Given the description of an element on the screen output the (x, y) to click on. 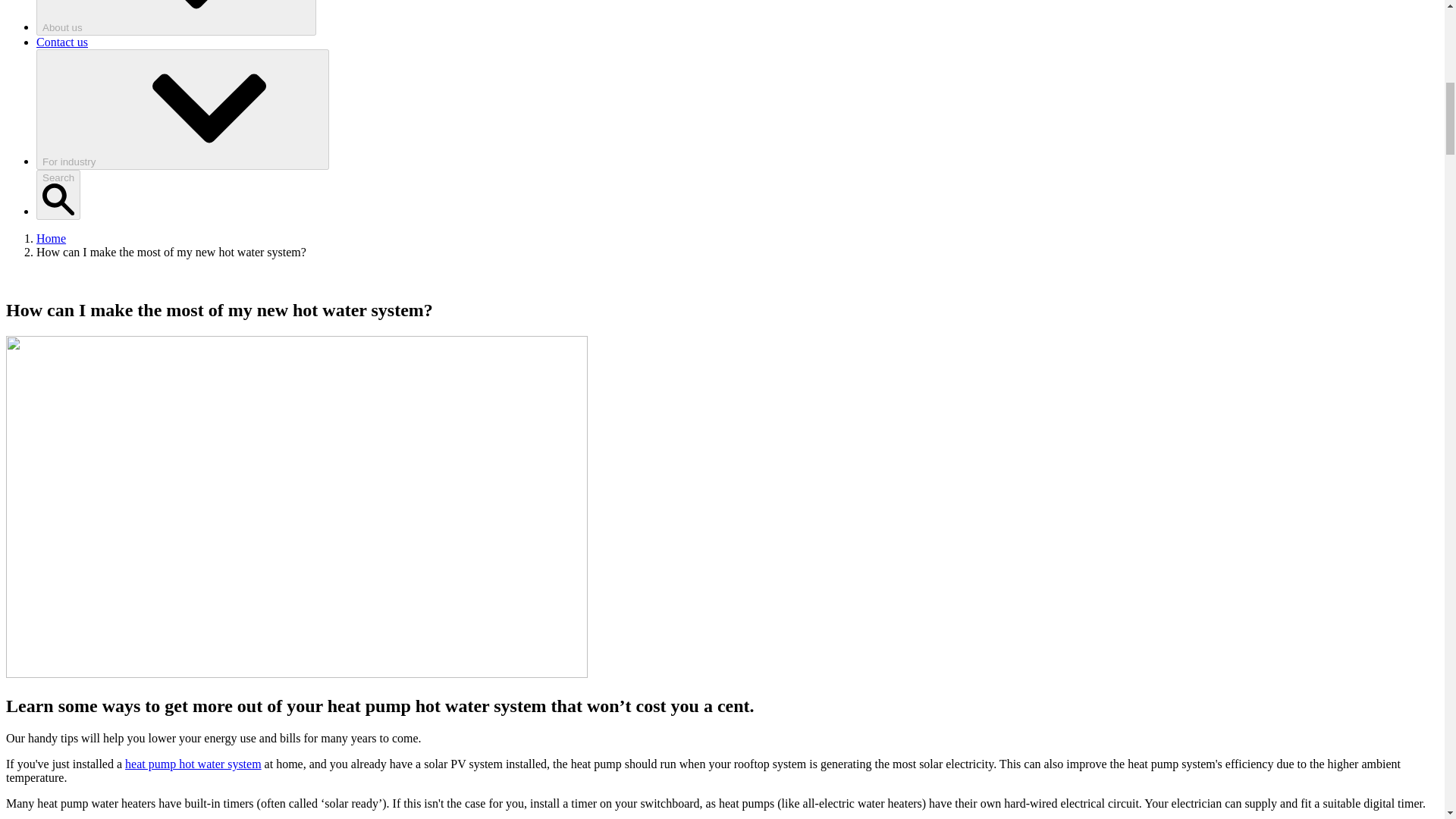
heat pump hot water system (193, 763)
Contact us (61, 42)
Home (50, 237)
Solar hot water rebate (193, 763)
